Given the description of an element on the screen output the (x, y) to click on. 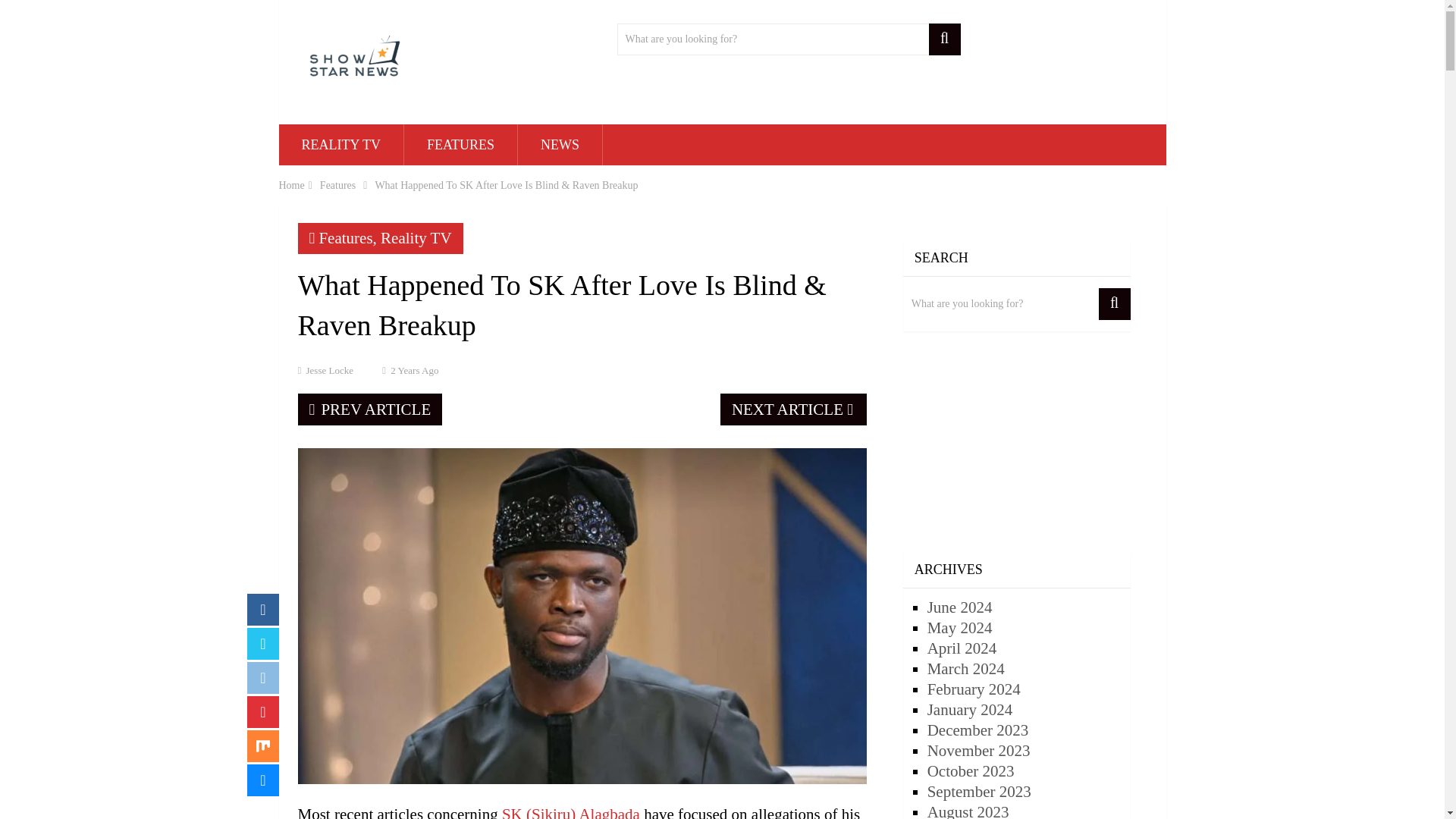
Features (337, 184)
Reality TV (415, 238)
View all posts in Reality TV (415, 238)
REALITY TV (341, 144)
Features (345, 238)
FEATURES (460, 144)
Posts by Jesse Locke (329, 369)
NEWS (560, 144)
NEXT ARTICLE (793, 409)
Jesse Locke (329, 369)
View all posts in Features (345, 238)
PREV ARTICLE (369, 409)
Home (291, 184)
